Given the description of an element on the screen output the (x, y) to click on. 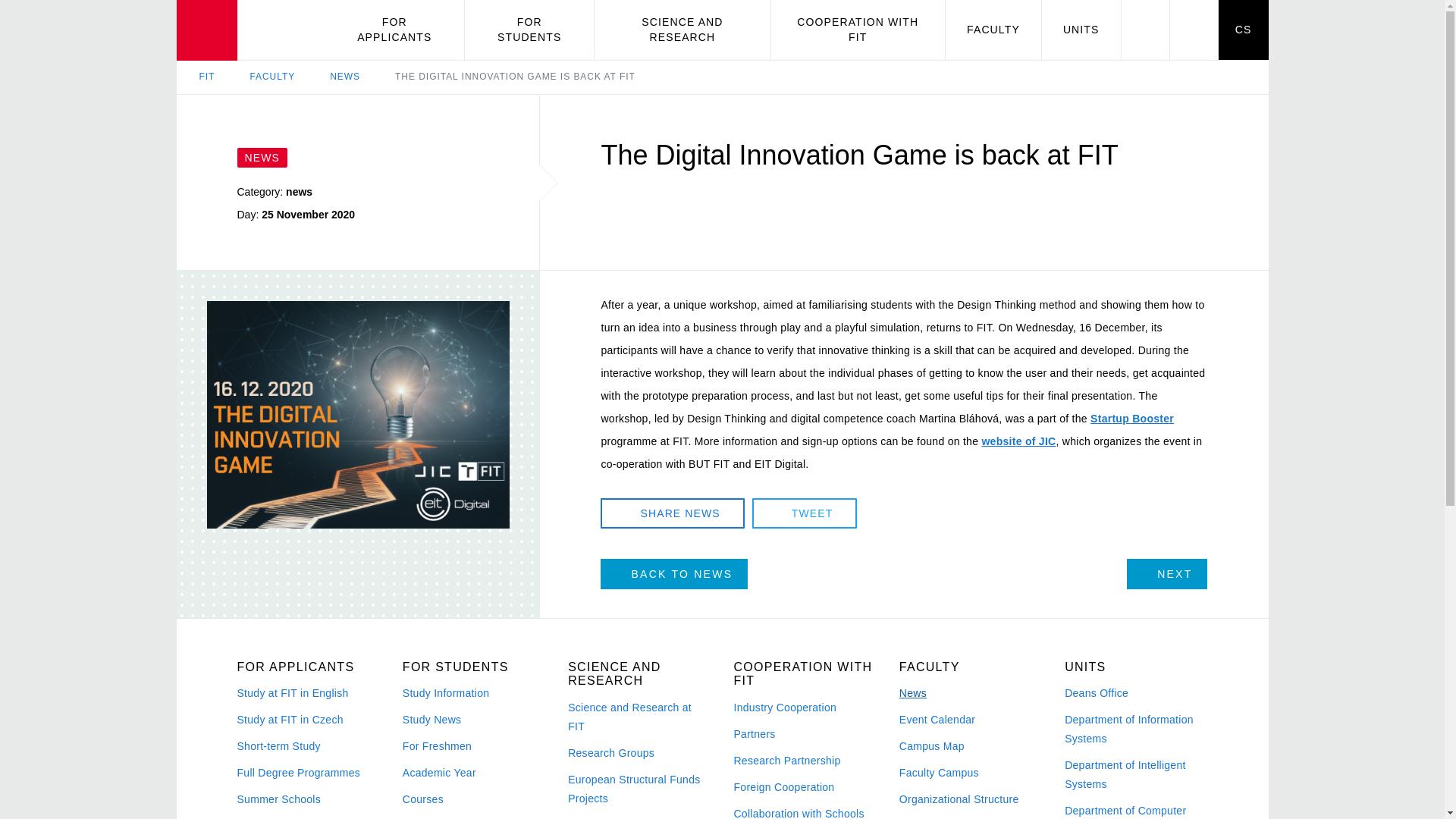
Faculty of Information Technology, BUT (250, 30)
FOR APPLICANTS (394, 29)
SCIENCE AND RESEARCH (682, 29)
FOR STUDENTS (529, 29)
